Given the description of an element on the screen output the (x, y) to click on. 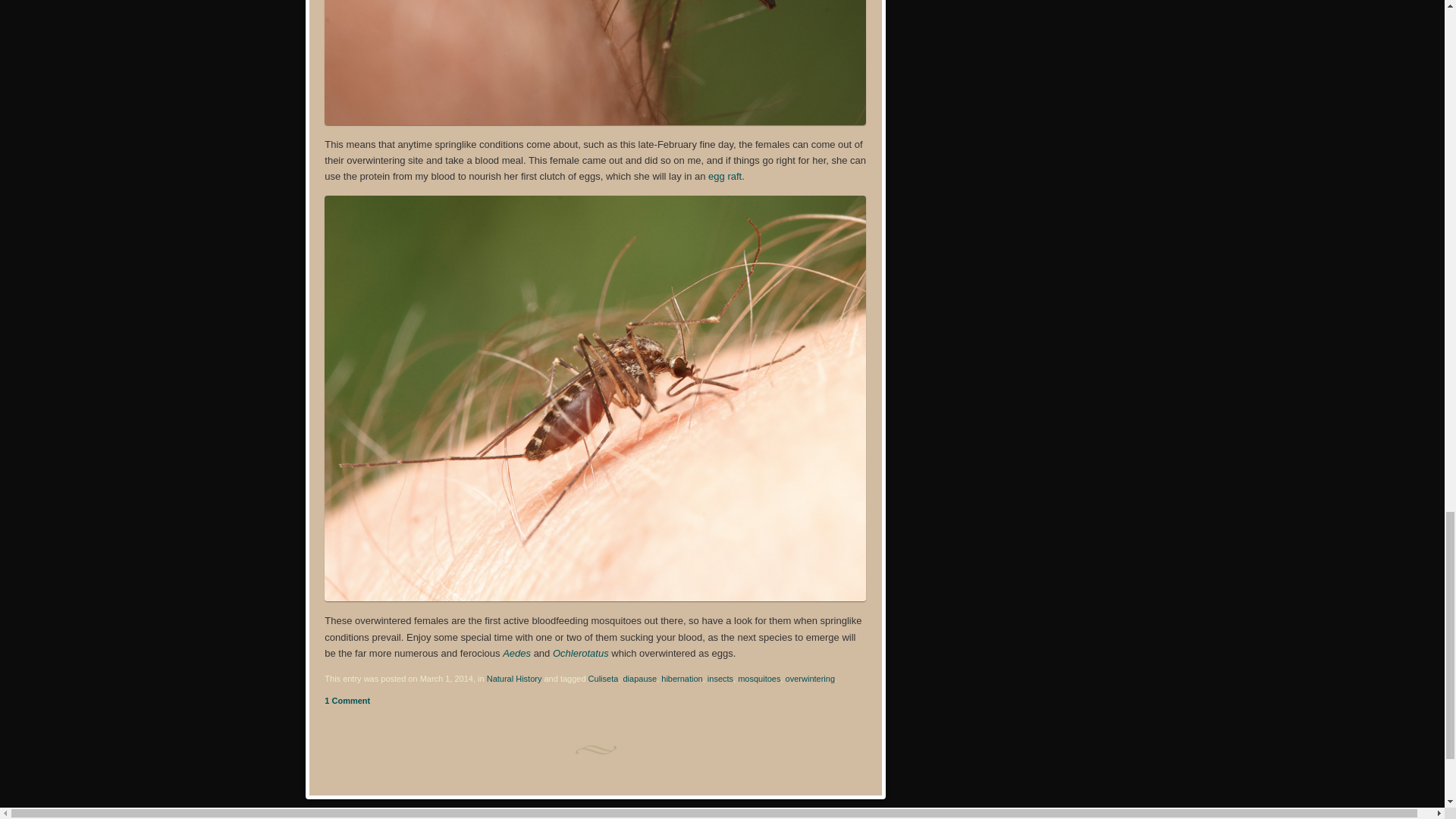
Ochlerotatus (580, 653)
Aedes (516, 653)
insects (720, 678)
mosquitoes (759, 678)
diapause (639, 678)
egg raft (724, 175)
overwintering (810, 678)
Natural History (513, 678)
hibernation (681, 678)
1 Comment (346, 700)
